Given the description of an element on the screen output the (x, y) to click on. 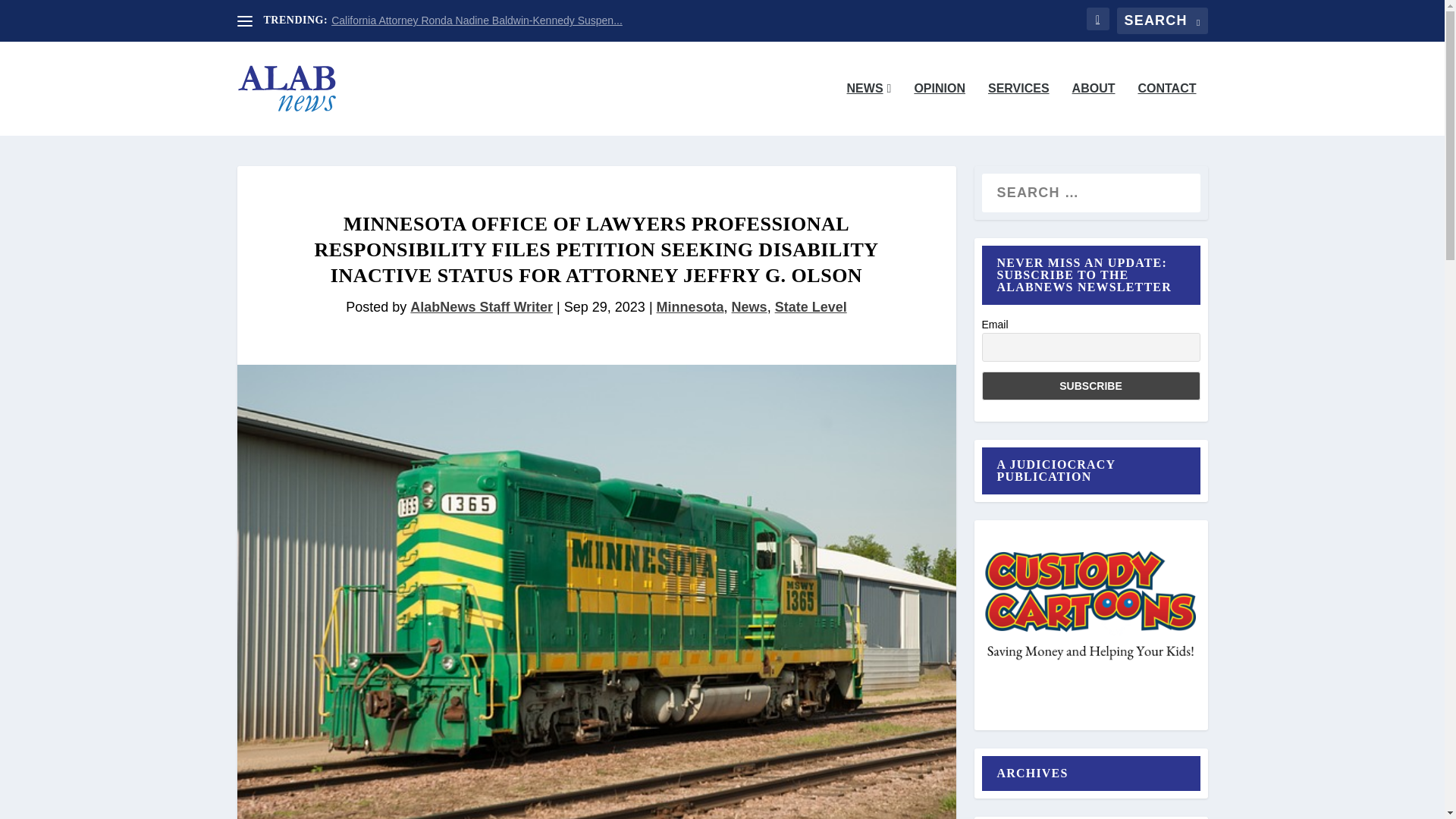
Minnesota (689, 306)
CONTACT (1166, 108)
State Level (810, 306)
ABOUT (1093, 108)
Search for: (1161, 20)
News (749, 306)
NEWS (869, 108)
AlabNews Staff Writer (481, 306)
Subscribe (1090, 385)
Posts by AlabNews Staff Writer (481, 306)
California Attorney Ronda Nadine Baldwin-Kennedy Suspen... (477, 20)
OPINION (939, 108)
SERVICES (1018, 108)
